Given the description of an element on the screen output the (x, y) to click on. 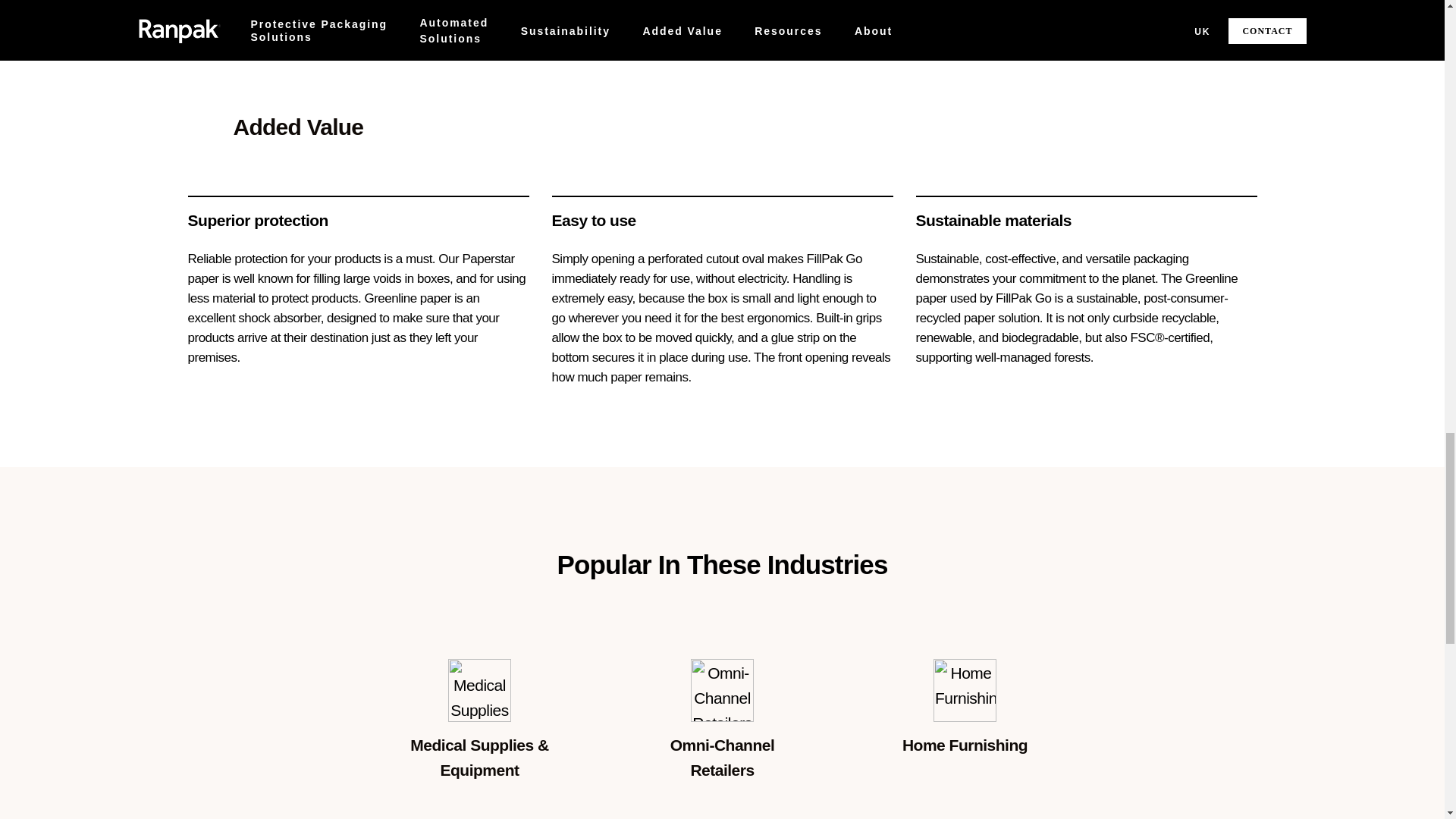
Omni-Channel Retailers (722, 690)
Home Furnishing (964, 690)
